Given the description of an element on the screen output the (x, y) to click on. 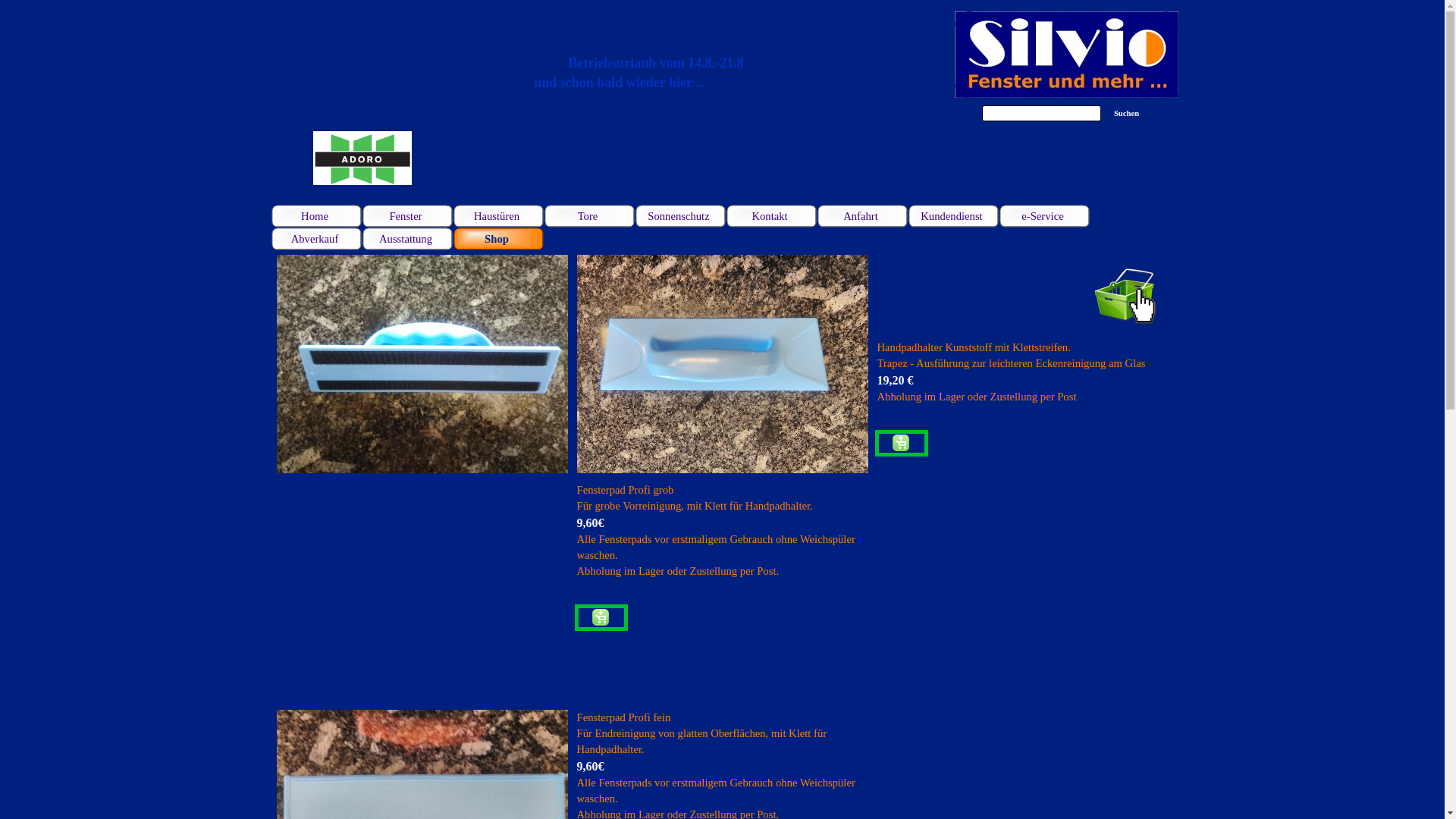
Sonnenschutz Element type: text (680, 215)
Abverkauf Element type: text (316, 238)
Anfahrt Element type: text (862, 215)
Ausstattung Element type: text (407, 238)
Kontakt Element type: text (771, 215)
Kundendienst Element type: text (953, 215)
e-Service Element type: text (1044, 215)
Home Element type: text (316, 215)
Suchen Element type: text (1125, 113)
